Given the description of an element on the screen output the (x, y) to click on. 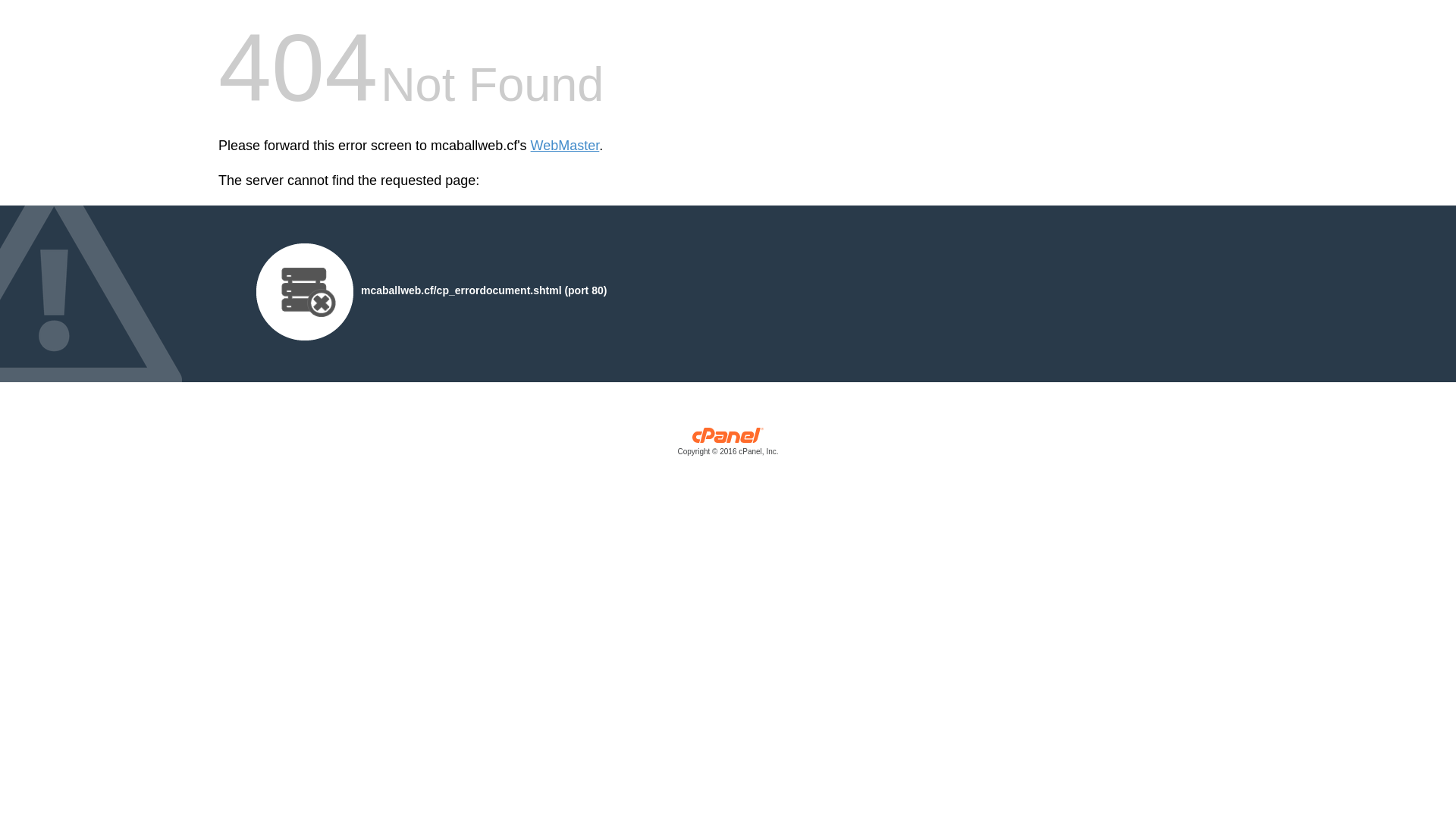
WebMaster Element type: text (564, 145)
